Given the description of an element on the screen output the (x, y) to click on. 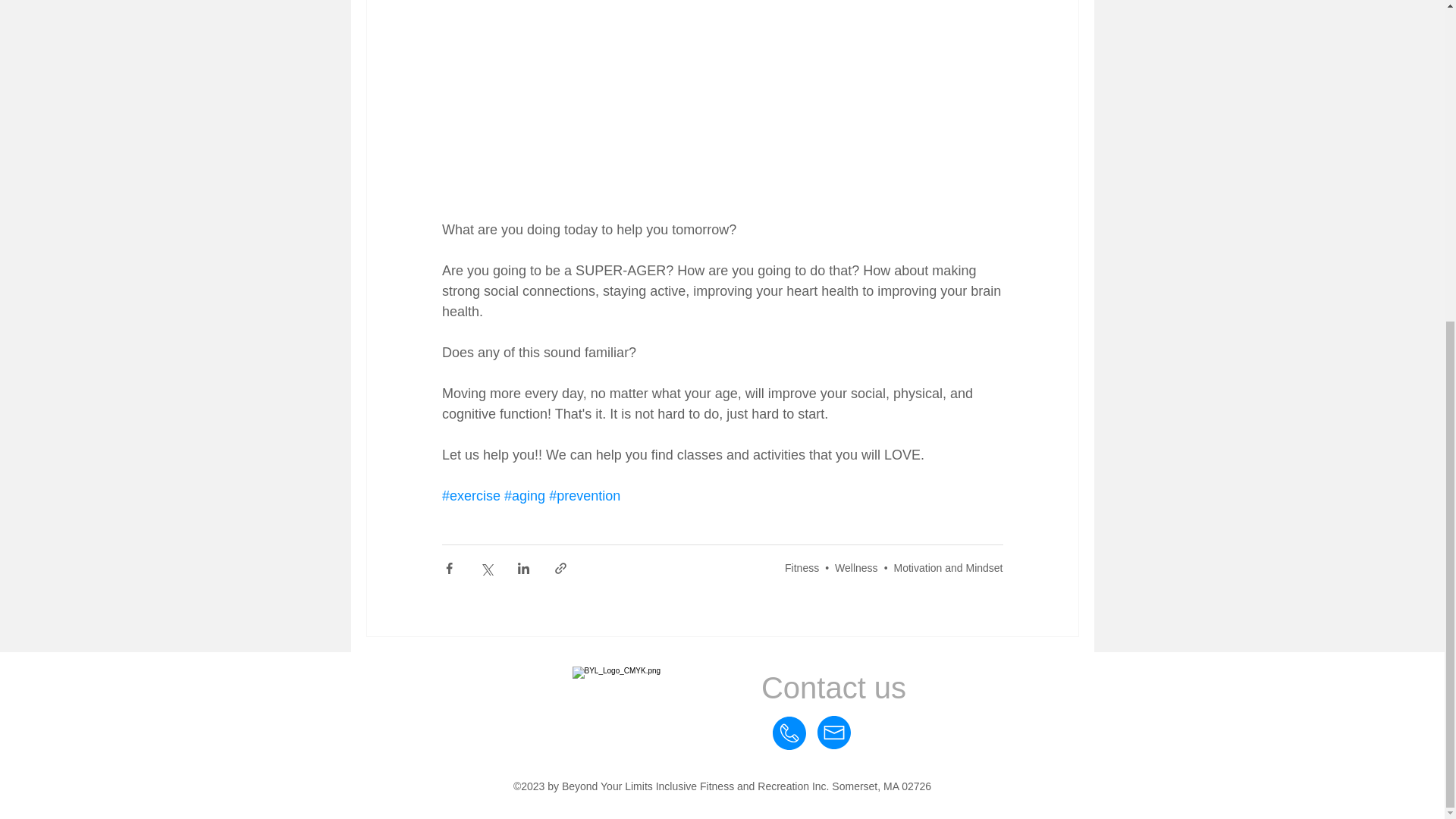
Motivation and Mindset (948, 567)
Wellness (855, 567)
Fitness (801, 567)
